Given the description of an element on the screen output the (x, y) to click on. 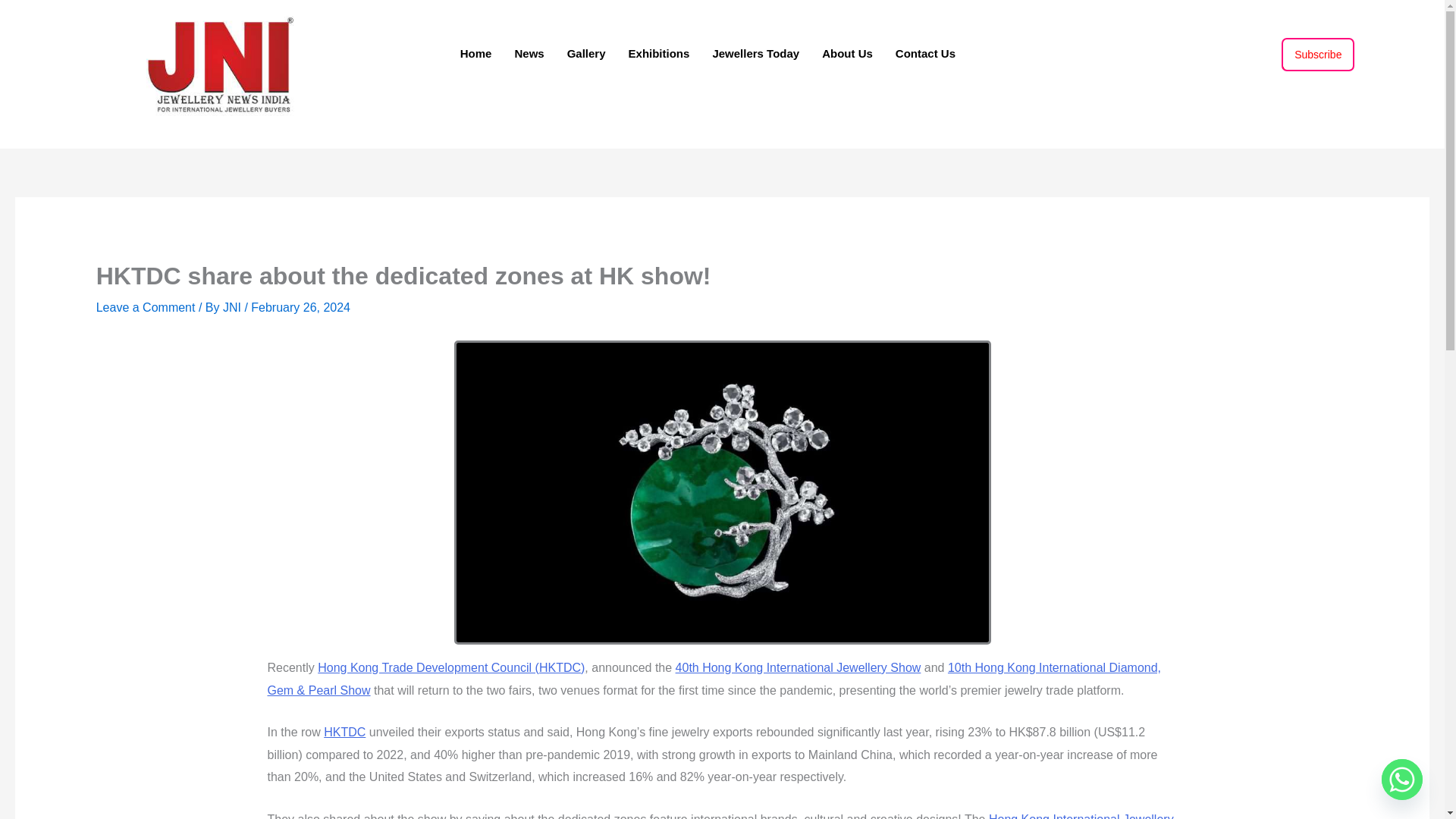
News (528, 52)
40th Hong Kong International Jewellery Show (798, 667)
View all posts by JNI (233, 307)
JNI (233, 307)
Contact Us (924, 52)
Jewellers Today (755, 52)
Exhibitions (659, 52)
Leave a Comment (145, 307)
HKTDC (344, 731)
